Given the description of an element on the screen output the (x, y) to click on. 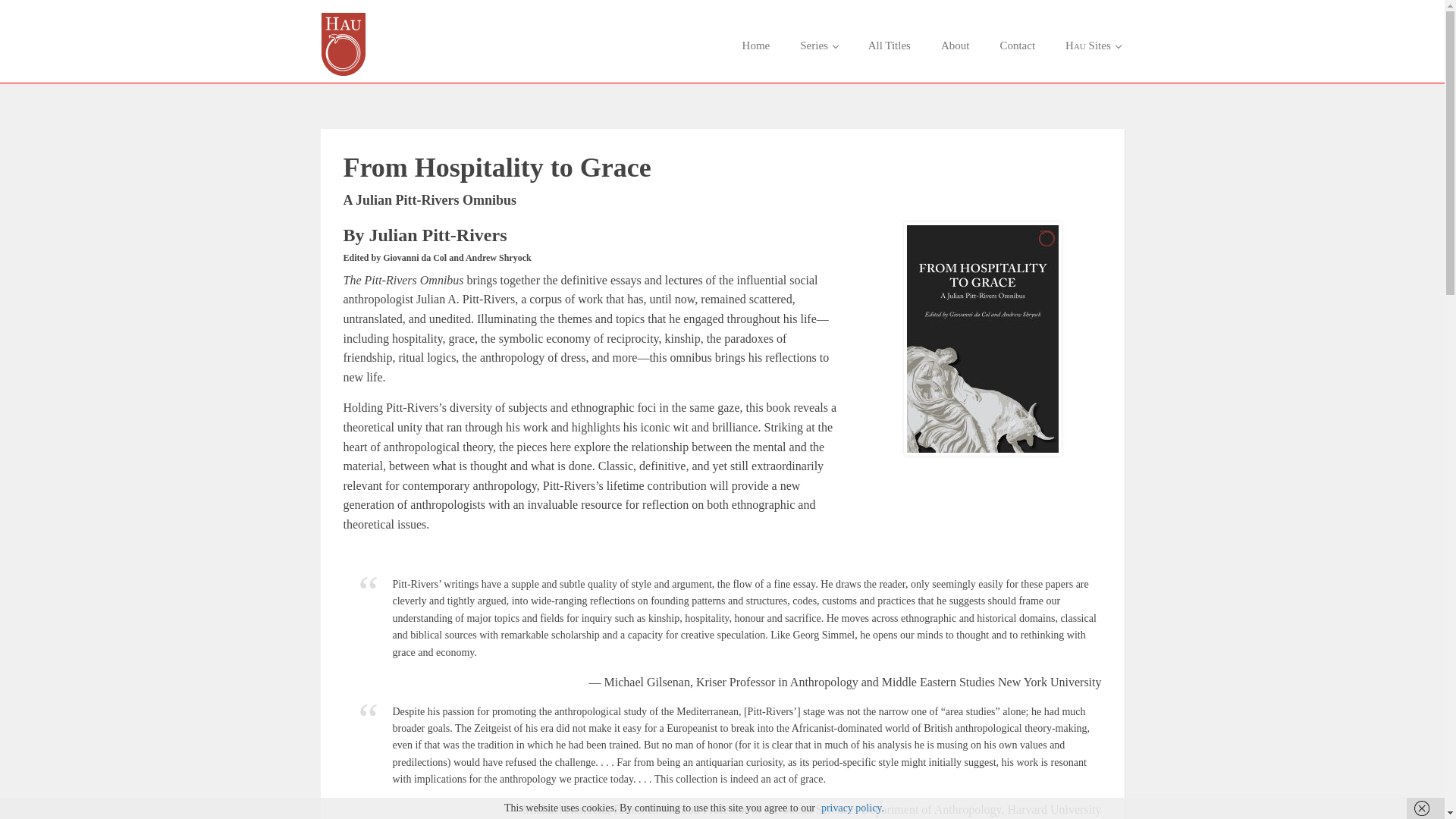
Home (756, 45)
About (955, 45)
All Titles (889, 45)
Contact (1016, 45)
privacy policy. (852, 808)
Series (817, 45)
Hau Sites (1092, 45)
